Given the description of an element on the screen output the (x, y) to click on. 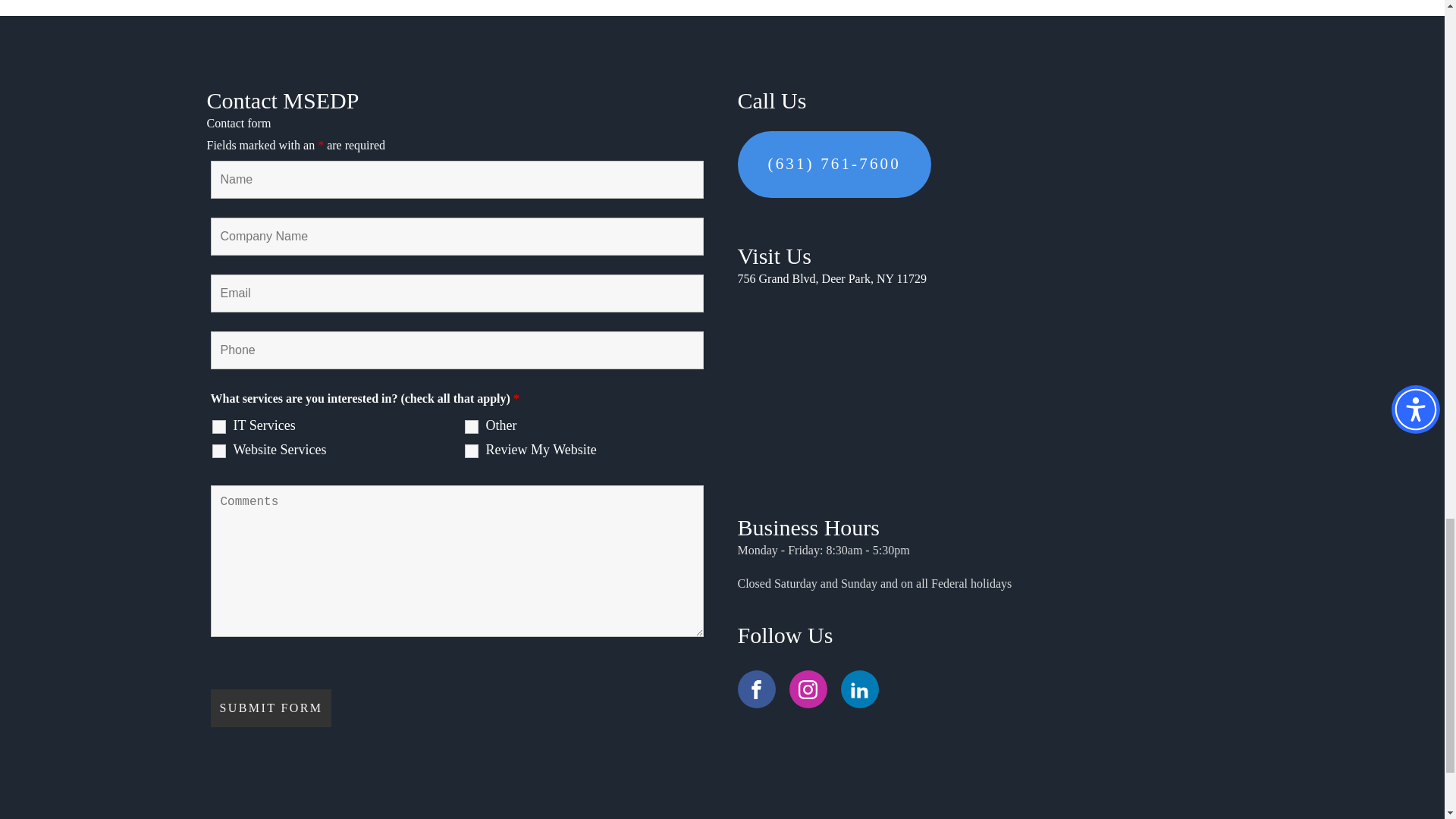
Submit Form (271, 708)
